Given the description of an element on the screen output the (x, y) to click on. 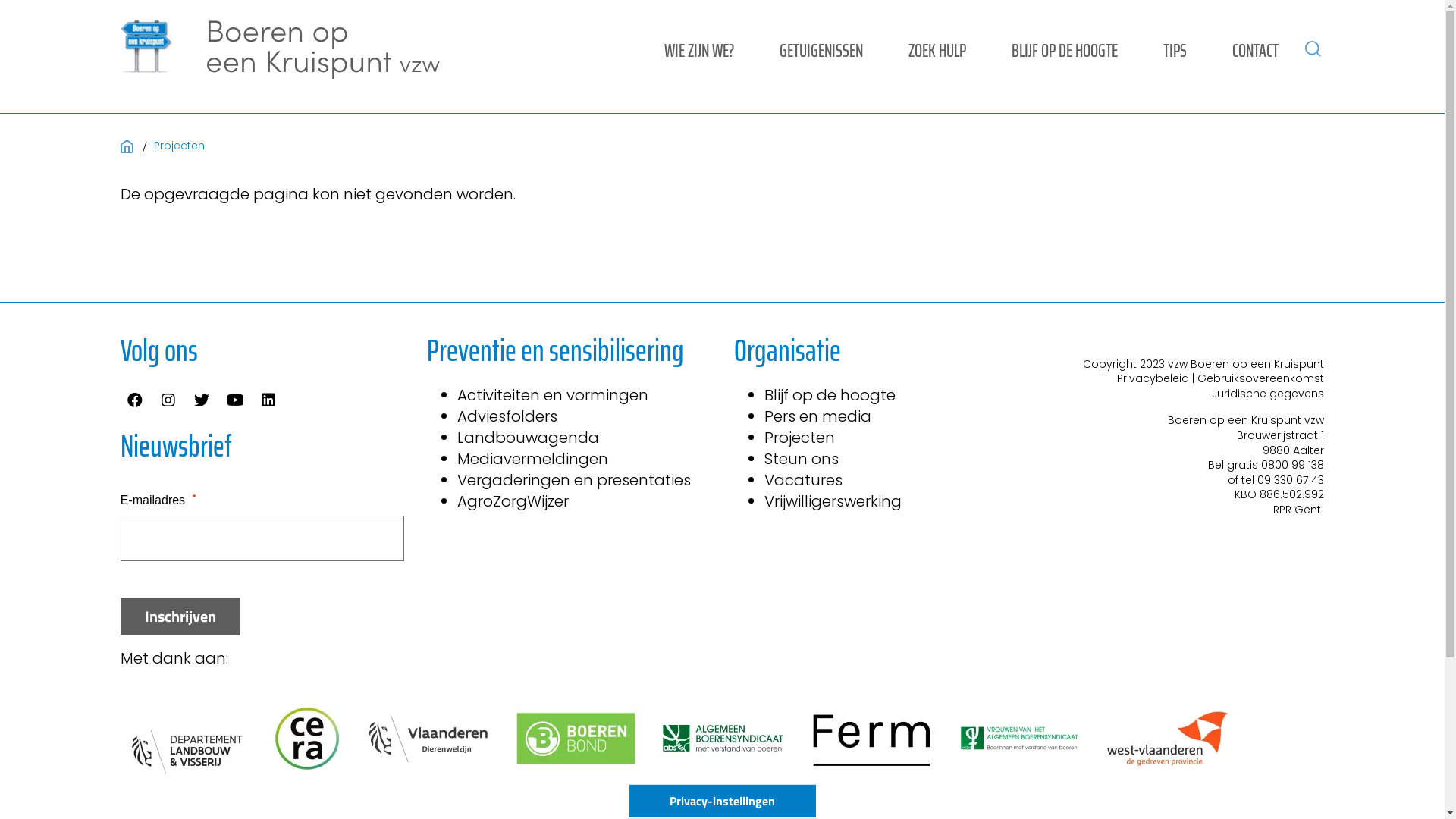
Mediavermeldingen Element type: text (532, 458)
Activiteiten en vormingen Element type: text (552, 394)
Instagram Element type: text (168, 400)
Pers en media Element type: text (817, 415)
LinkedIn Element type: text (268, 400)
Facebook Element type: text (134, 400)
Vrijwilligerswerking Element type: text (832, 500)
Naar de inhoud Element type: text (0, 0)
Adviesfolders Element type: text (507, 415)
AgroZorgWijzer Element type: text (512, 500)
Projecten Element type: text (799, 437)
Blijf op de hoogte Element type: text (829, 394)
Gebruiksovereenkomst Element type: text (1260, 377)
Vergaderingen en presentaties Element type: text (573, 479)
ZOEK HULP Element type: text (937, 48)
TIPS Element type: text (1174, 48)
Landbouwagenda Element type: text (528, 437)
Projecten Element type: text (178, 145)
Home Element type: text (129, 145)
Juridische gegevens Element type: text (1267, 393)
Vacatures Element type: text (803, 479)
Steun ons Element type: text (801, 458)
BLIJF OP DE HOOGTE Element type: text (1064, 48)
GETUIGENISSEN Element type: text (820, 48)
CONTACT Element type: text (1255, 48)
Ga naar de homepage Element type: hover (280, 48)
Inschrijven Element type: text (180, 616)
Twitter Element type: text (201, 400)
Youtube kanaal Element type: text (234, 400)
WIE ZIJN WE? Element type: text (699, 48)
Privacybeleid Element type: text (1153, 377)
